Given the description of an element on the screen output the (x, y) to click on. 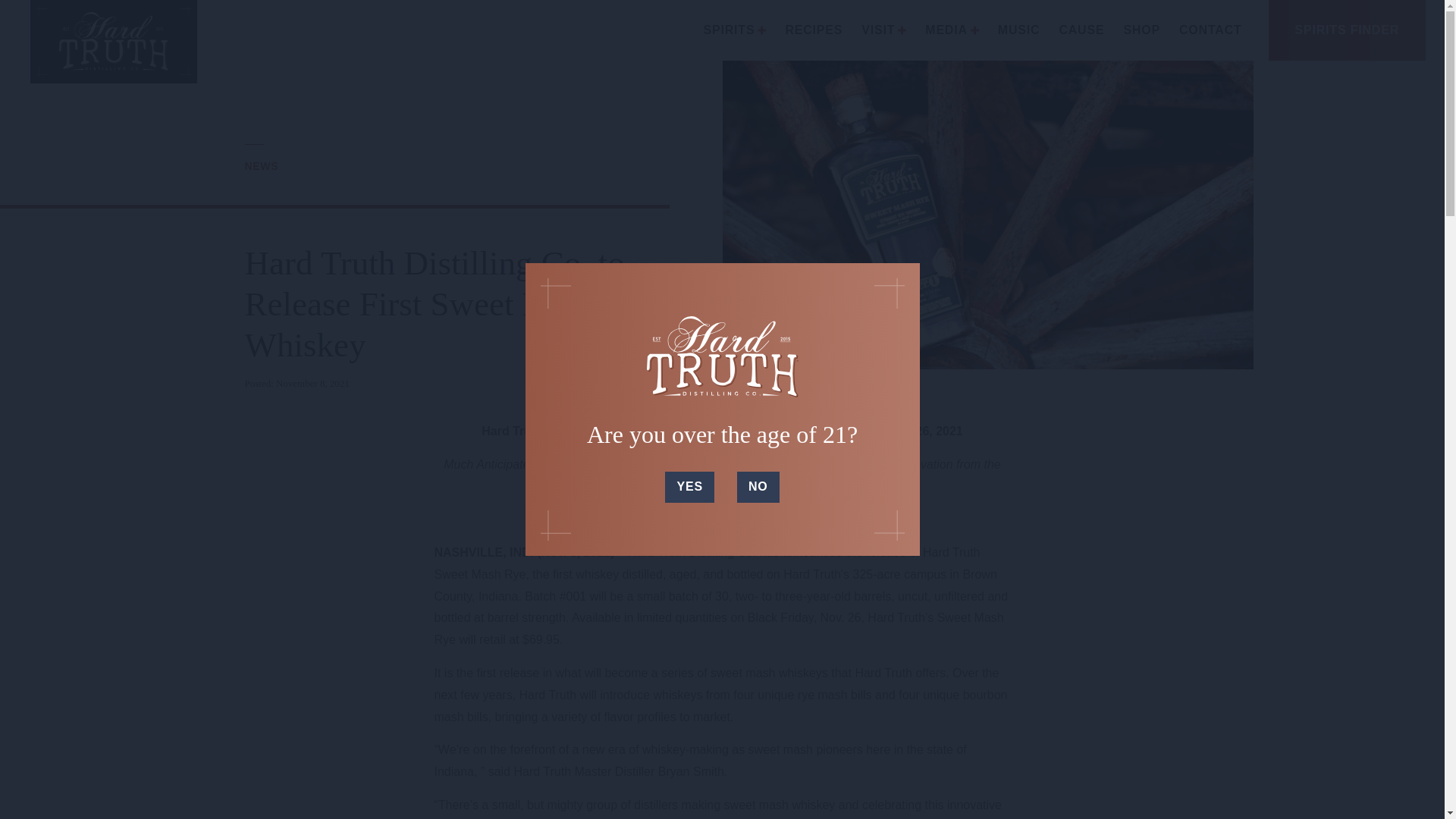
Hard Truth Distilling Co. (113, 41)
YES (689, 486)
SPIRITS (734, 30)
NO (757, 486)
